Given the description of an element on the screen output the (x, y) to click on. 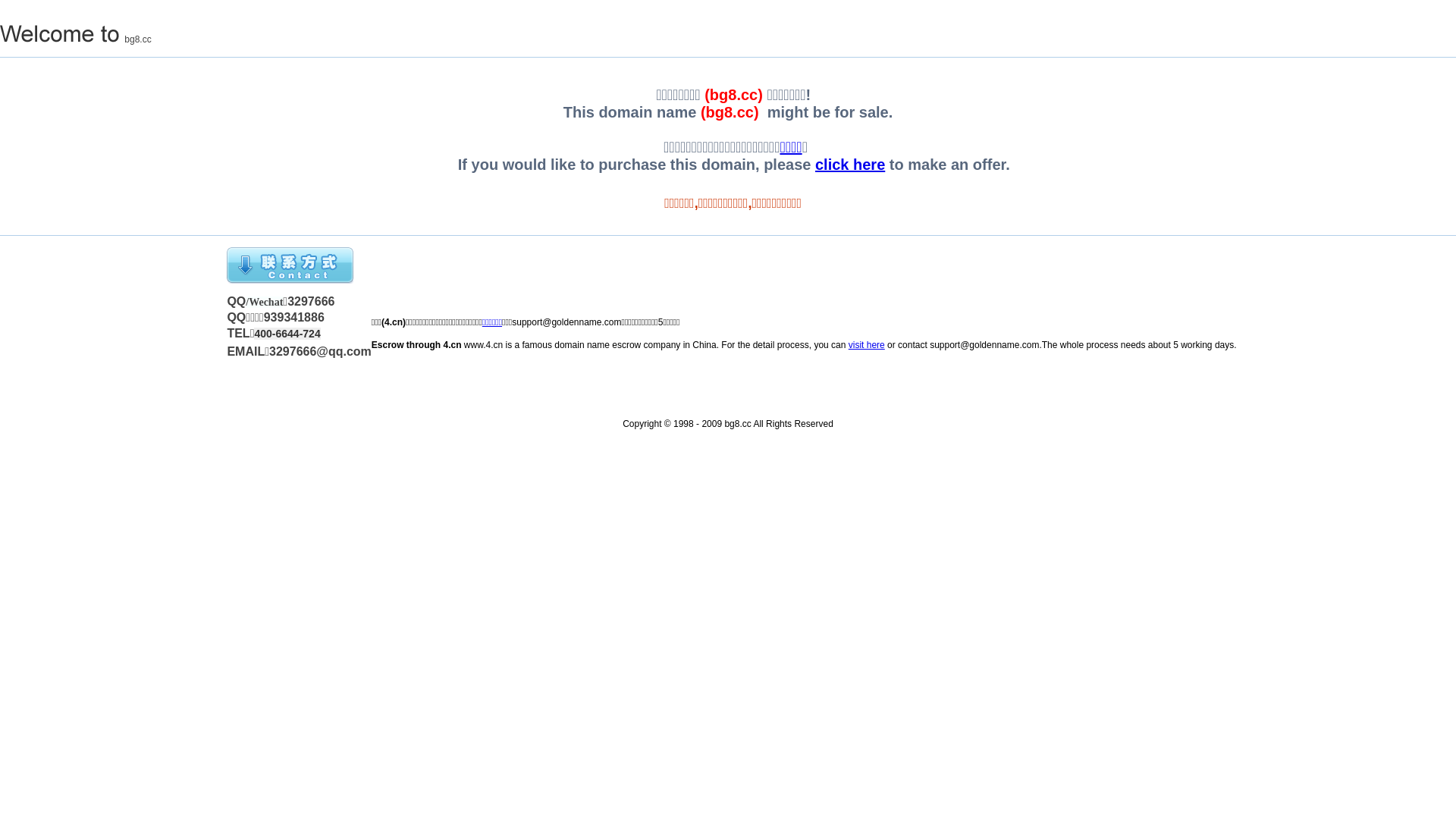
click here Element type: text (849, 164)
visit here Element type: text (866, 344)
